Given the description of an element on the screen output the (x, y) to click on. 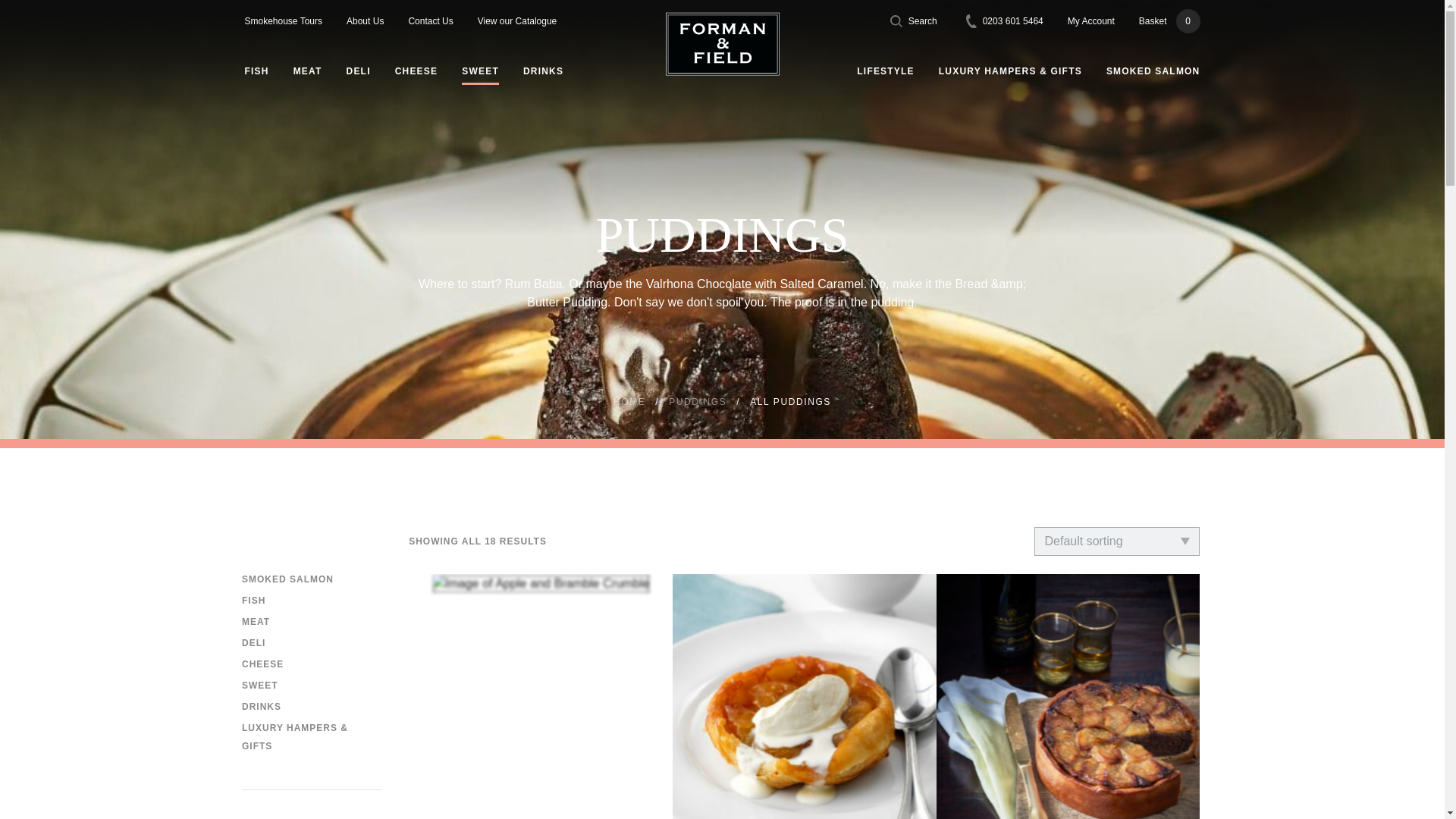
MEAT (1168, 21)
CHEESE (307, 70)
My Account (416, 70)
FISH (1091, 20)
0203 601 5464 (255, 70)
Smokehouse Tours (1004, 20)
View our Catalogue (282, 20)
Contact Us (517, 20)
About Us (429, 20)
DELI (365, 20)
